Given the description of an element on the screen output the (x, y) to click on. 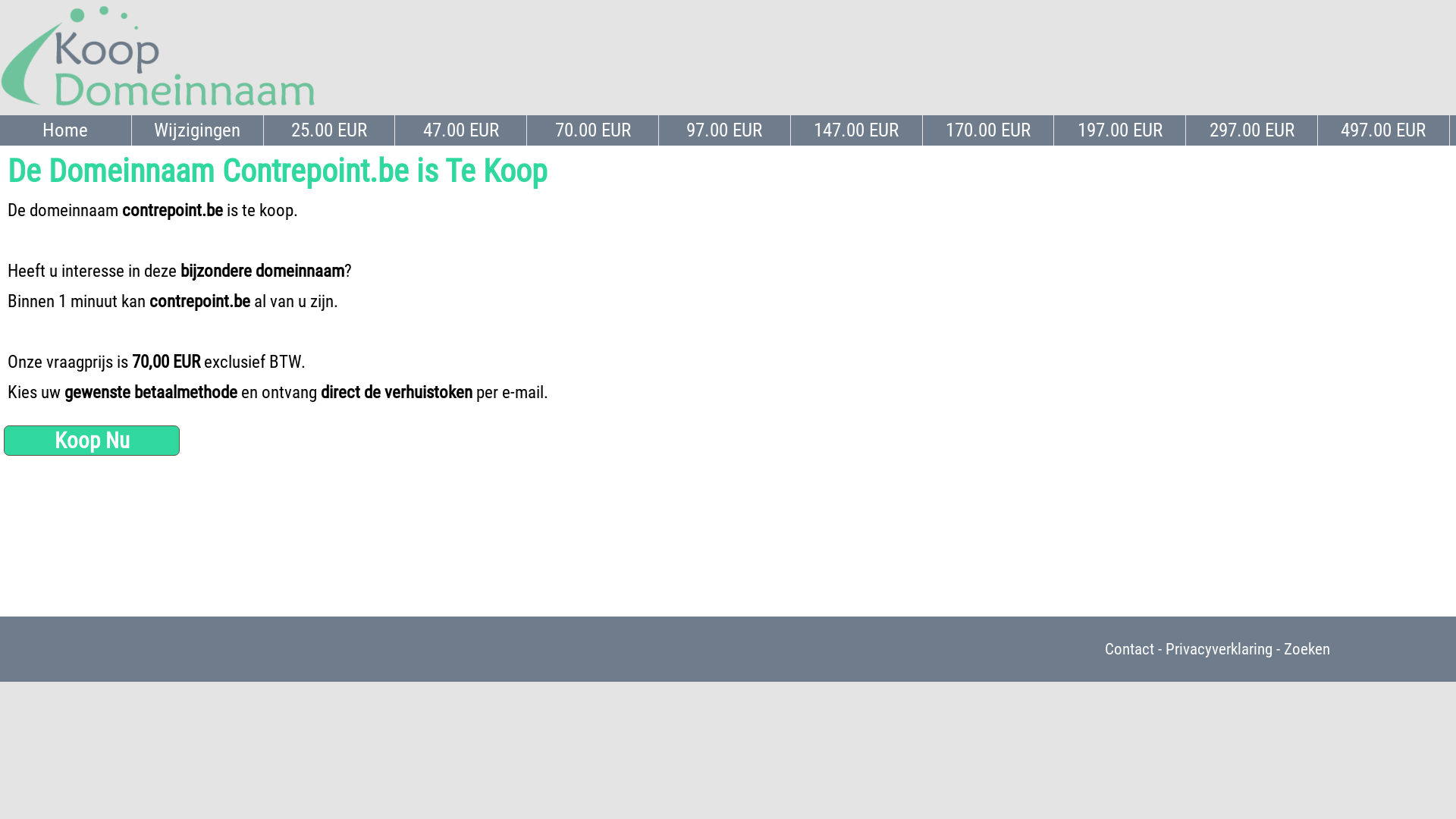
Zoeken Element type: text (1306, 649)
Koop Domeinnaam Element type: hover (158, 56)
25.00 EUR Element type: text (329, 130)
147.00 EUR Element type: text (856, 130)
Home Element type: text (65, 130)
Koop Domeinnaam Element type: hover (158, 108)
97.00 EUR Element type: text (724, 130)
47.00 EUR Element type: text (461, 130)
Privacyverklaring Element type: text (1218, 649)
Koop Nu Element type: text (91, 440)
Contact Element type: text (1129, 649)
170.00 EUR Element type: text (988, 130)
297.00 EUR Element type: text (1251, 130)
70.00 EUR Element type: text (592, 130)
Wijzigingen Element type: text (197, 130)
497.00 EUR Element type: text (1383, 130)
197.00 EUR Element type: text (1120, 130)
